Given the description of an element on the screen output the (x, y) to click on. 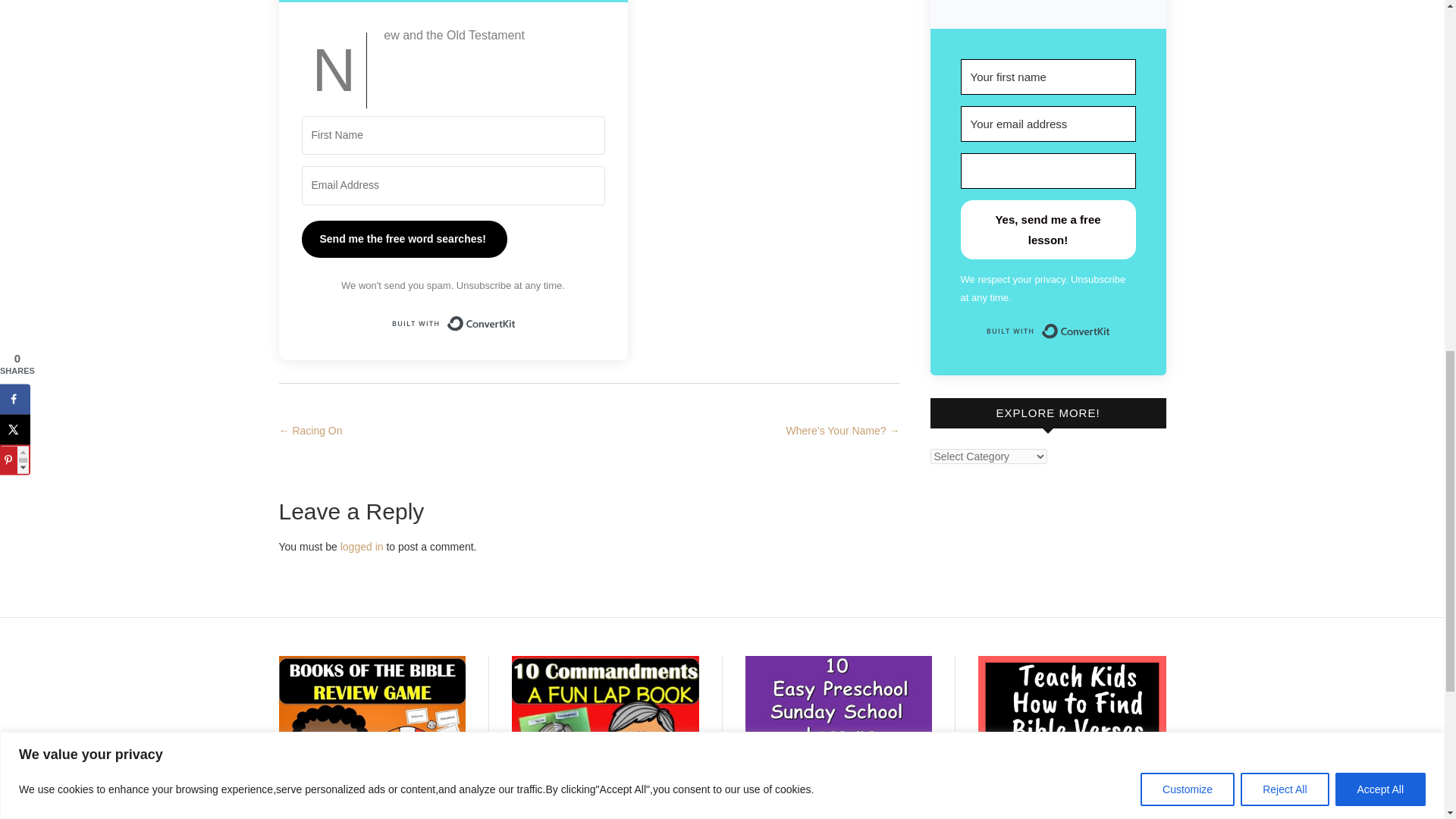
Built with ConvertKit (452, 323)
Send me the free word searches!  (403, 238)
Yes, send me a free lesson! (1047, 229)
Built with ConvertKit (1047, 330)
logged in (362, 546)
